Given the description of an element on the screen output the (x, y) to click on. 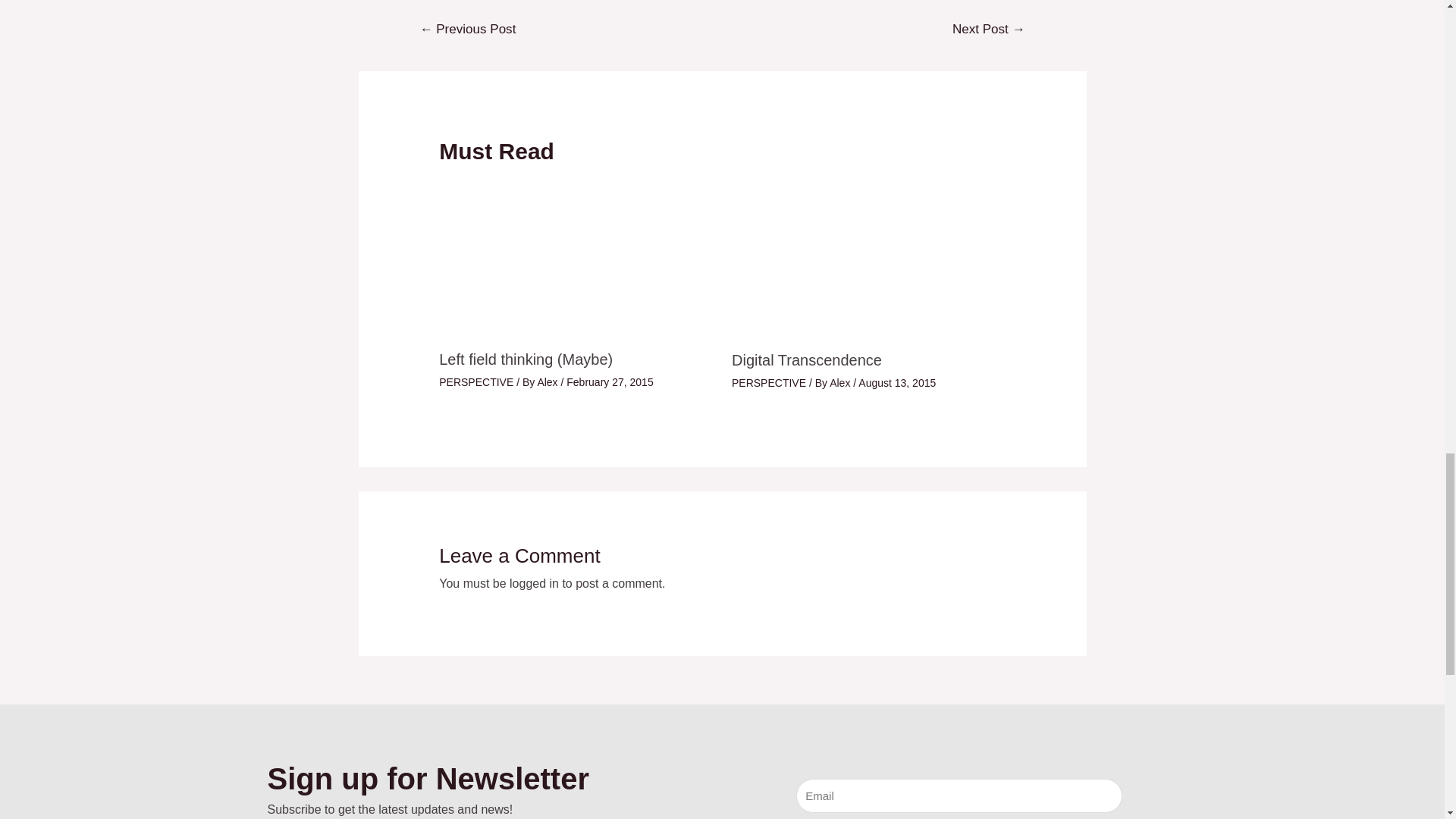
PERSPECTIVE (769, 382)
Digital Relevance (467, 30)
Digital Convergence (988, 30)
View all posts by Alex (548, 381)
Digital Transcendence (807, 360)
Alex (548, 381)
PERSPECTIVE (476, 381)
View all posts by Alex (841, 382)
